Given the description of an element on the screen output the (x, y) to click on. 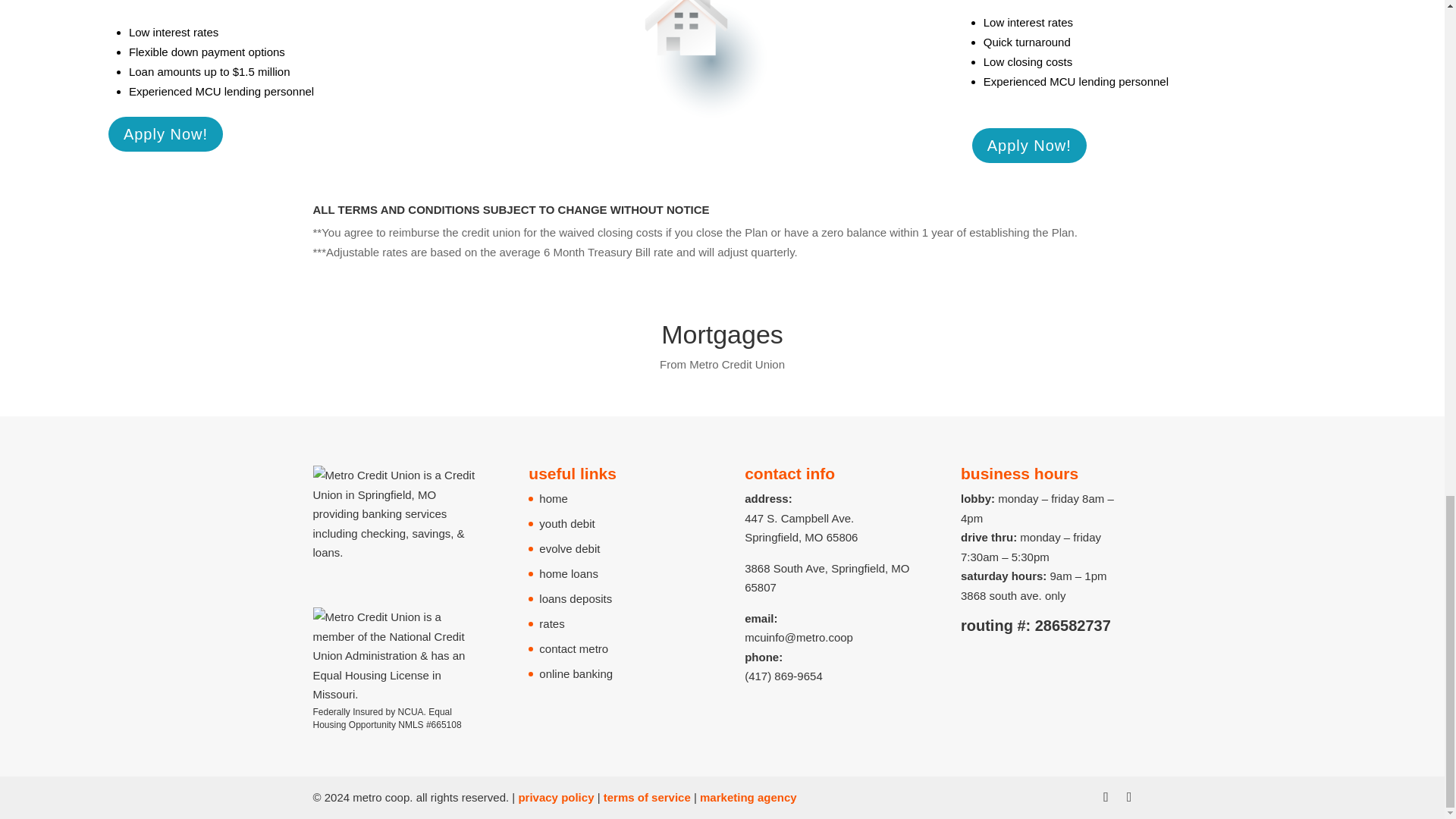
6 Month Treasury Bill (596, 251)
Apply Now! (164, 134)
youth debit (566, 522)
rates (1060, 21)
Metro Credit Union (736, 364)
Apply Now! (1029, 144)
interest rates (185, 31)
Equal Housing Opportunity (382, 718)
evolve debit (568, 548)
home (552, 498)
